Given the description of an element on the screen output the (x, y) to click on. 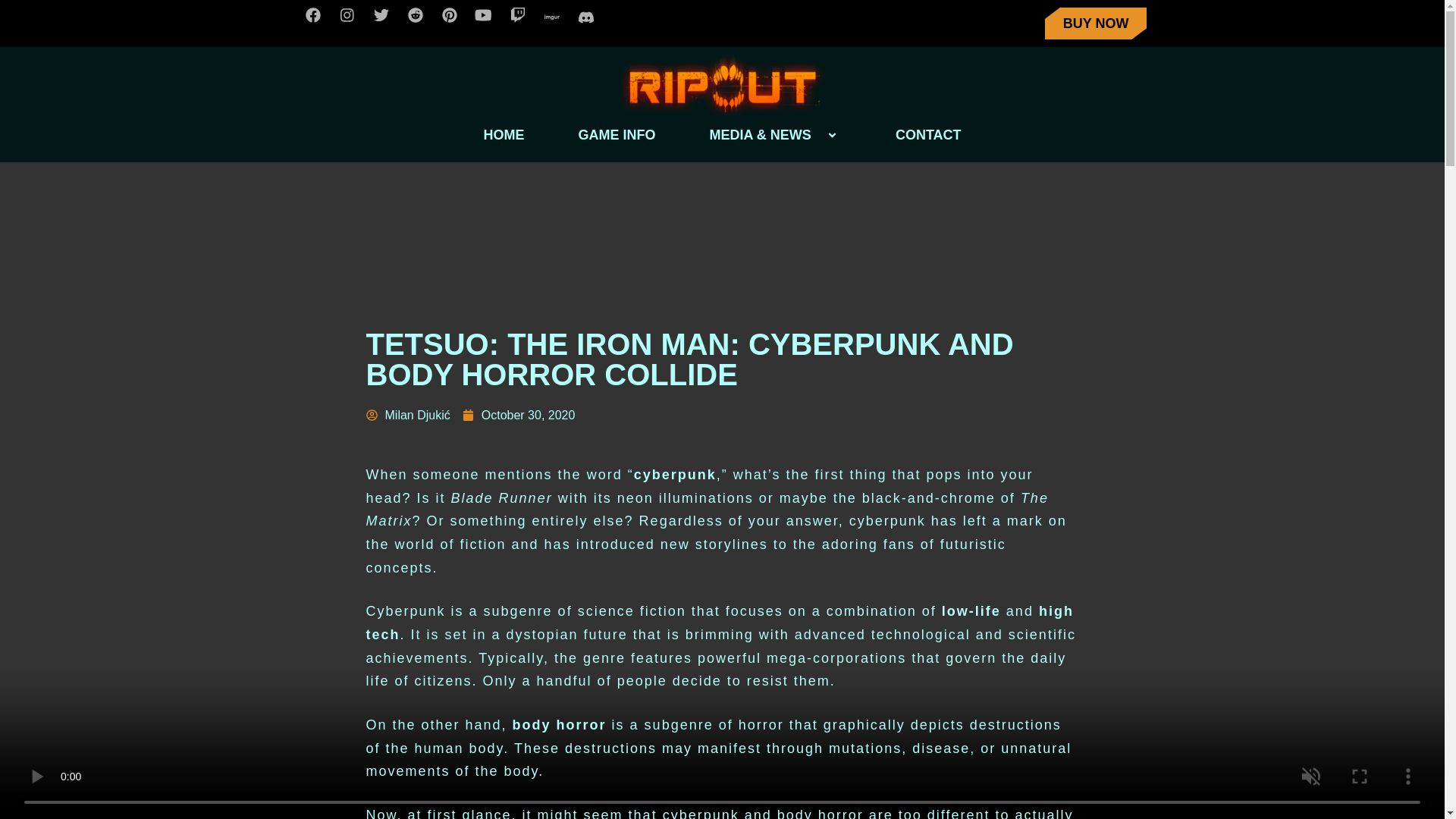
October 30, 2020 (519, 414)
BUY NOW (1096, 23)
GAME INFO (616, 134)
CONTACT (928, 134)
HOME (503, 134)
